Given the description of an element on the screen output the (x, y) to click on. 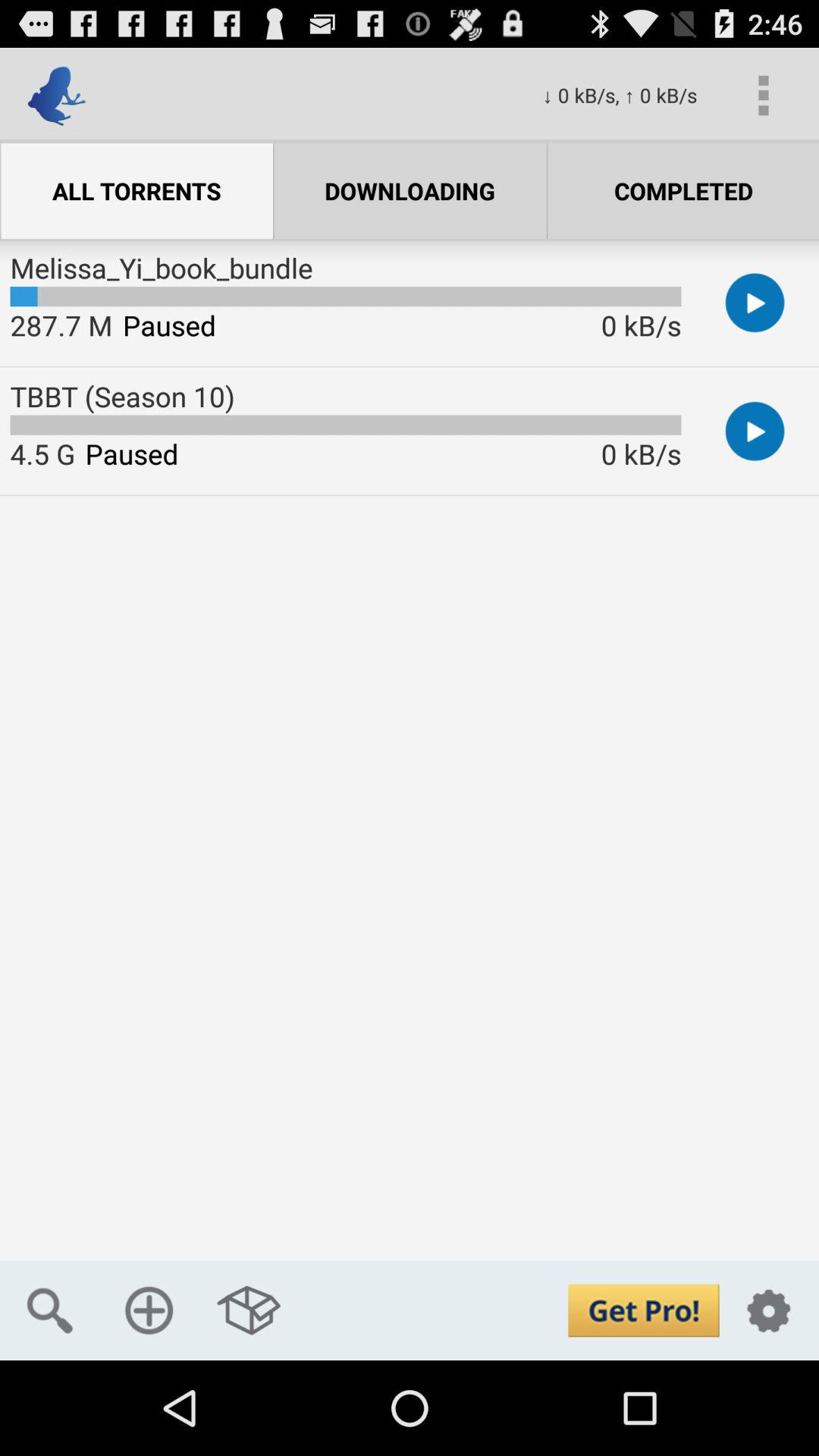
turn off icon to the left of the paused item (61, 325)
